Given the description of an element on the screen output the (x, y) to click on. 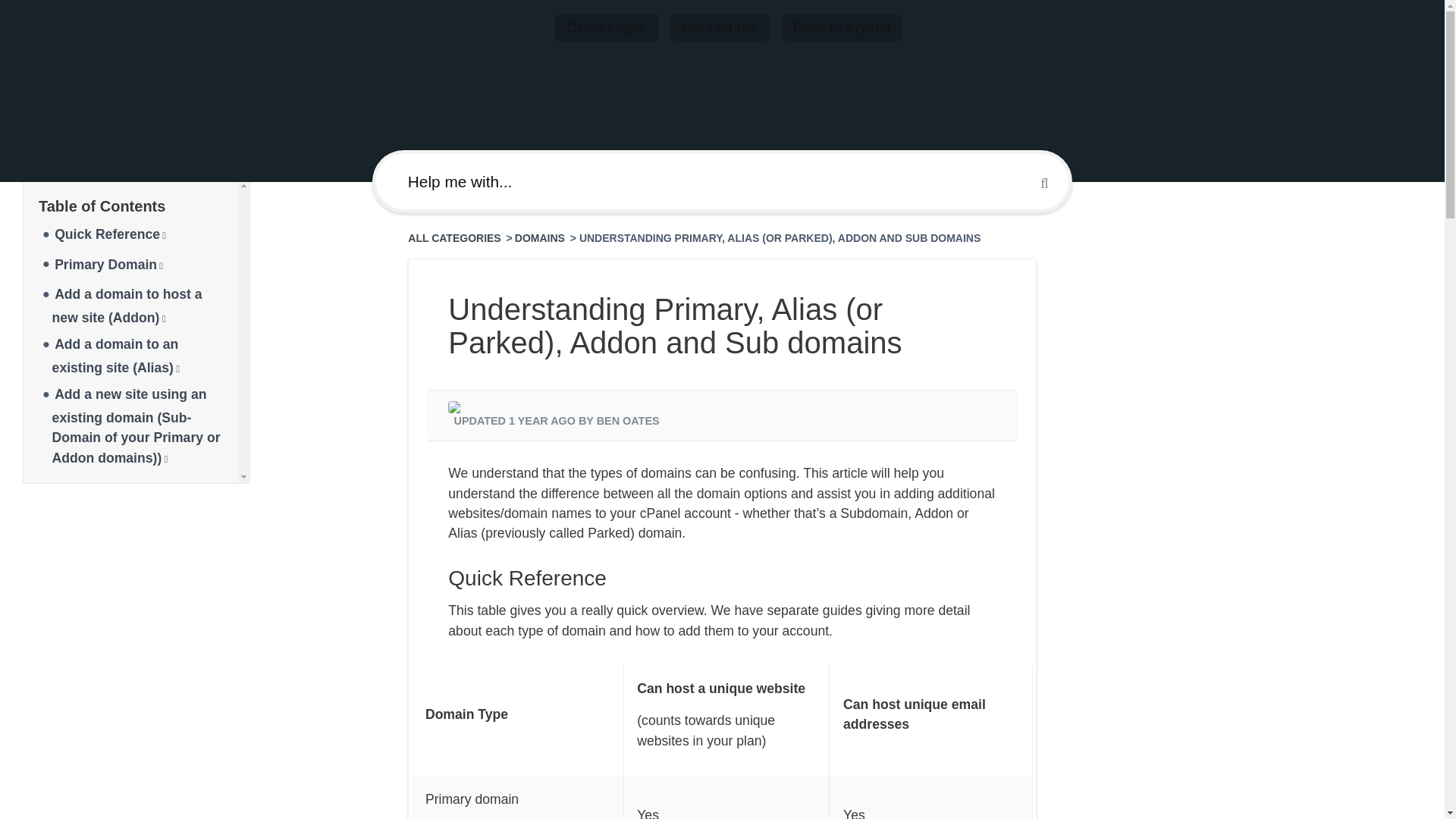
Primary Domain (109, 264)
Contact Us (720, 27)
DOMAINS (541, 237)
Back to Krystal (841, 27)
Quick Reference (110, 233)
Client Login (606, 27)
ALL CATEGORIES (455, 237)
